Given the description of an element on the screen output the (x, y) to click on. 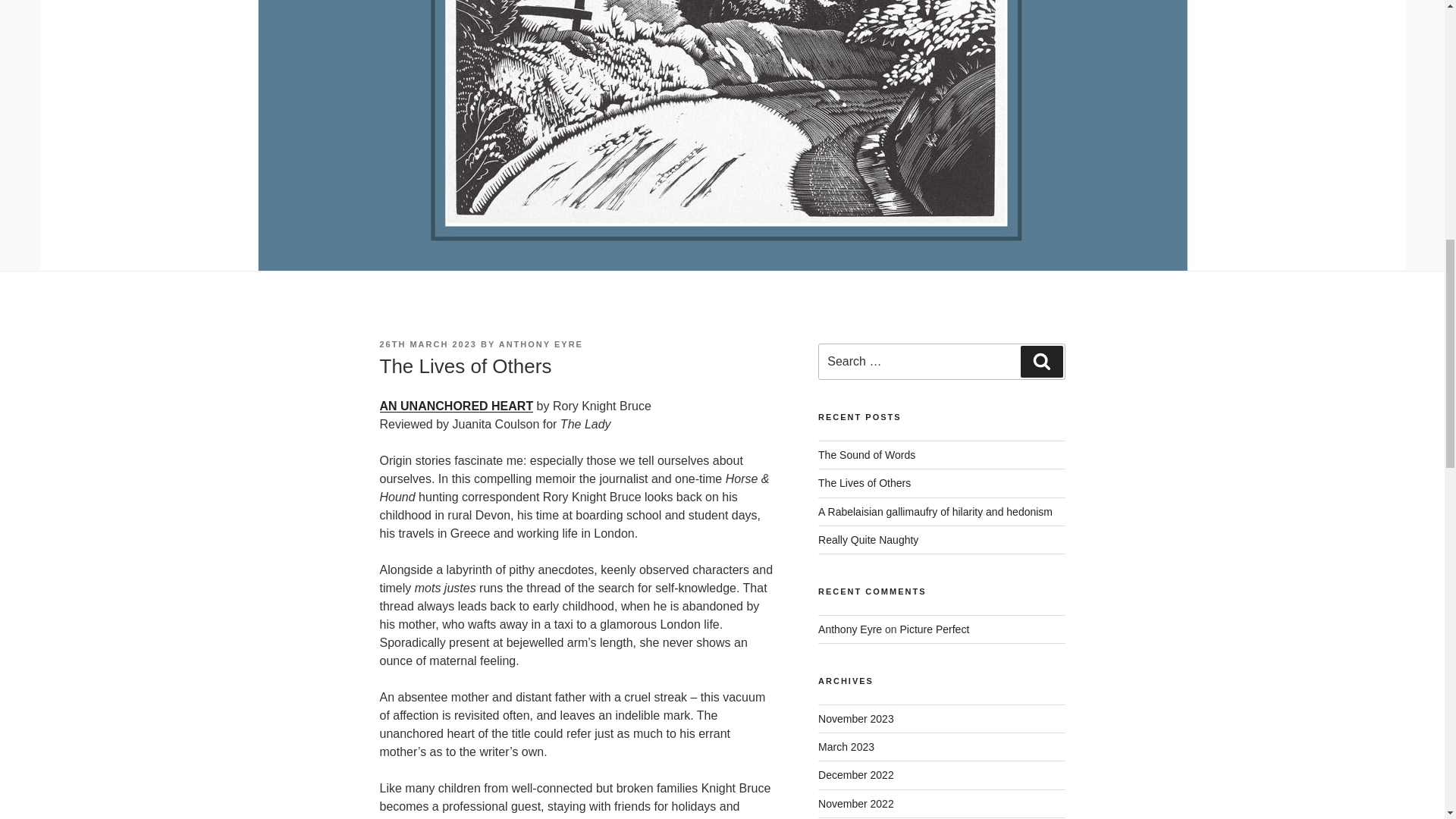
Picture Perfect (934, 629)
The Sound of Words (866, 454)
26TH MARCH 2023 (427, 343)
AN UNANCHORED HEART (455, 405)
November 2022 (855, 803)
Really Quite Naughty (868, 539)
Anthony Eyre (850, 629)
A Rabelaisian gallimaufry of hilarity and hedonism (935, 511)
November 2023 (855, 718)
December 2022 (855, 775)
The Lives of Others (864, 482)
March 2023 (846, 746)
ANTHONY EYRE (541, 343)
Search (1041, 361)
